Given the description of an element on the screen output the (x, y) to click on. 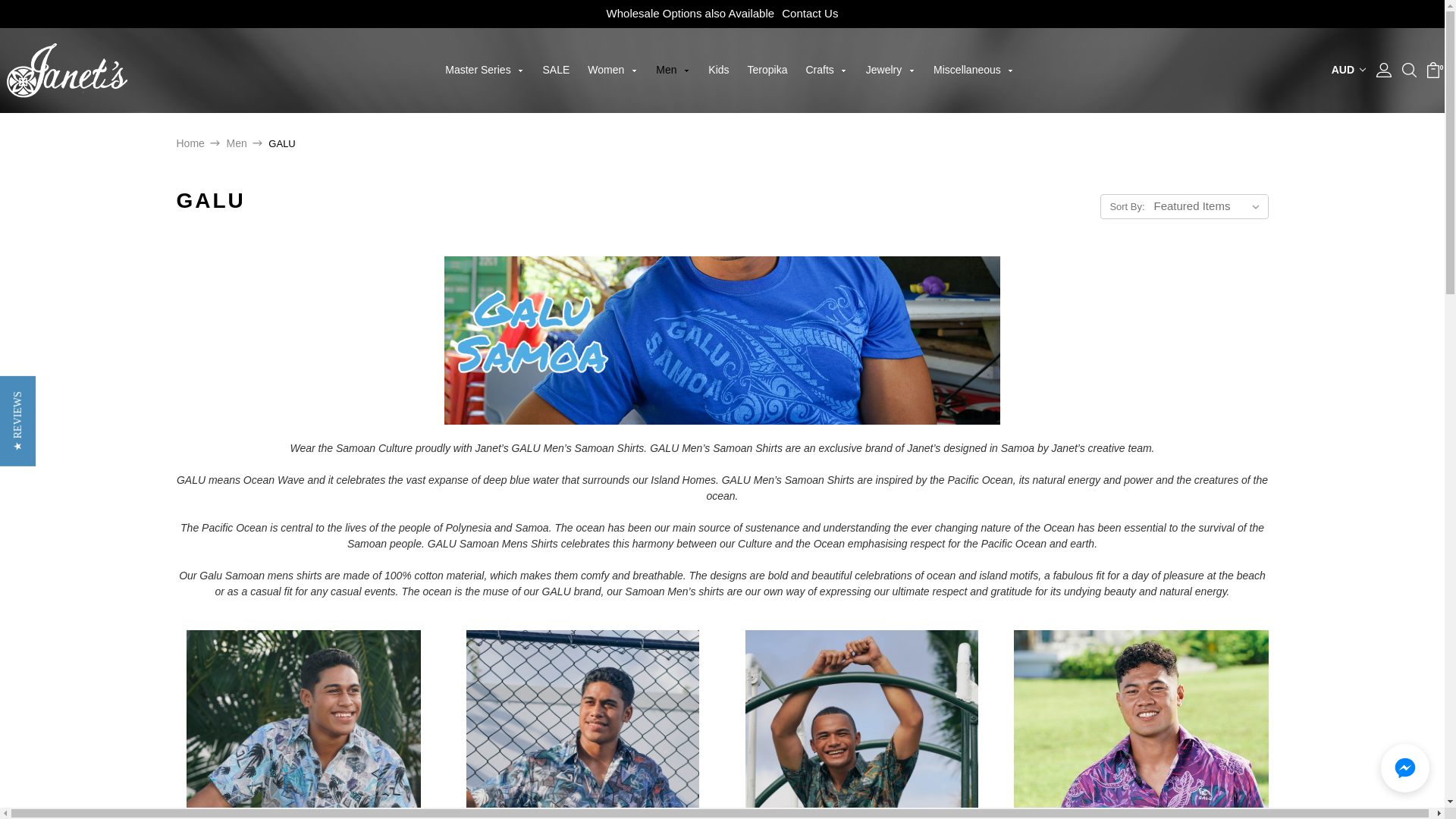
GALU PILI SERENE (1140, 724)
Contact Us (809, 12)
Master Series (483, 87)
GALU LOCAL BOY DRIFTING (303, 724)
website-catergory-banner-galu.png (722, 340)
Women (612, 87)
Men (672, 87)
AUD (1348, 69)
GALU LOCAL BOY ISLAND DAZE (860, 724)
SALE (556, 87)
GALU LOCAL BOY CHILL (582, 724)
Janet's (64, 69)
